Given the description of an element on the screen output the (x, y) to click on. 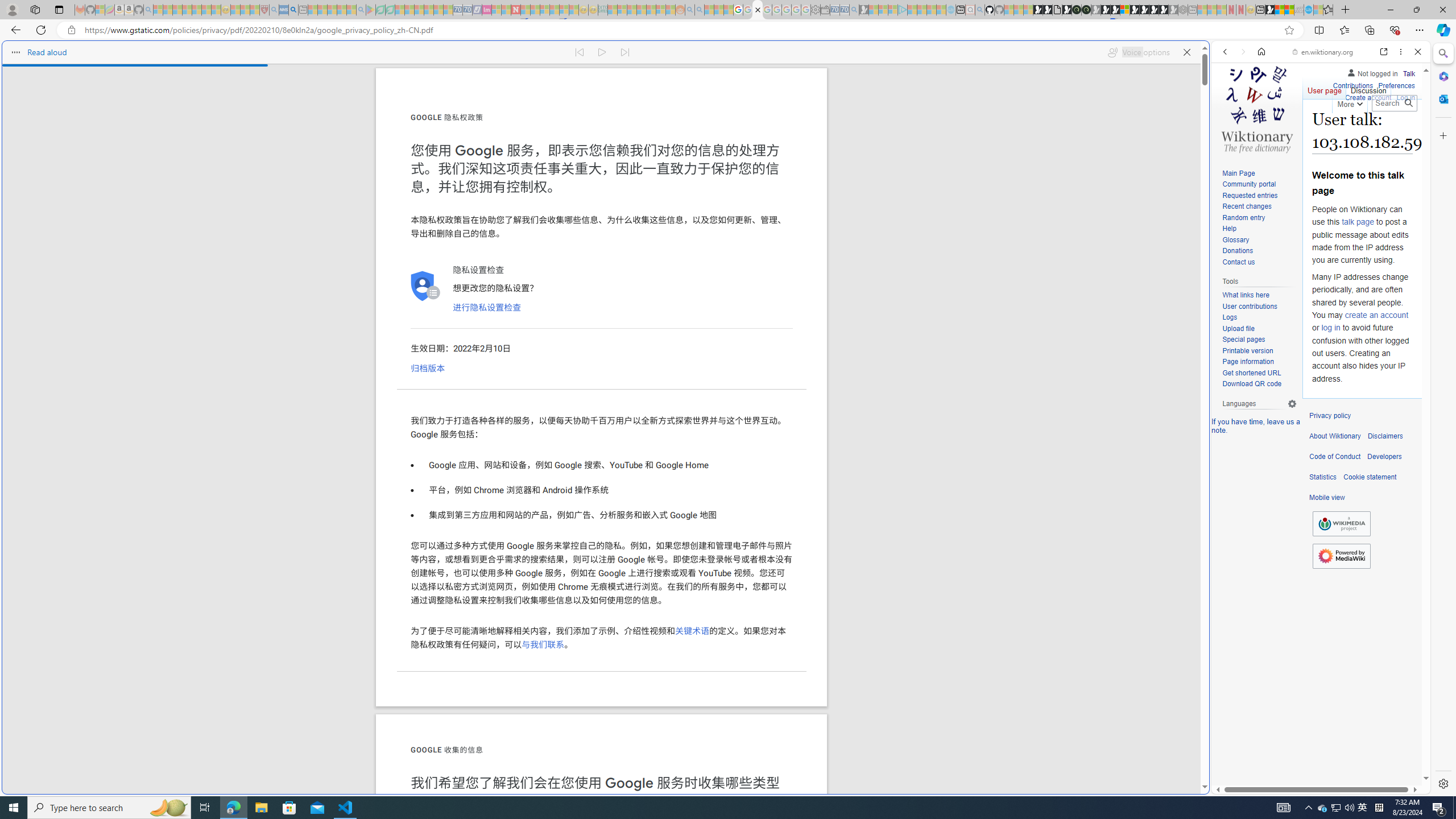
Developers (1384, 456)
Search Filter, Search Tools (1350, 129)
Talk (1408, 71)
Statistics (1322, 477)
